Given the description of an element on the screen output the (x, y) to click on. 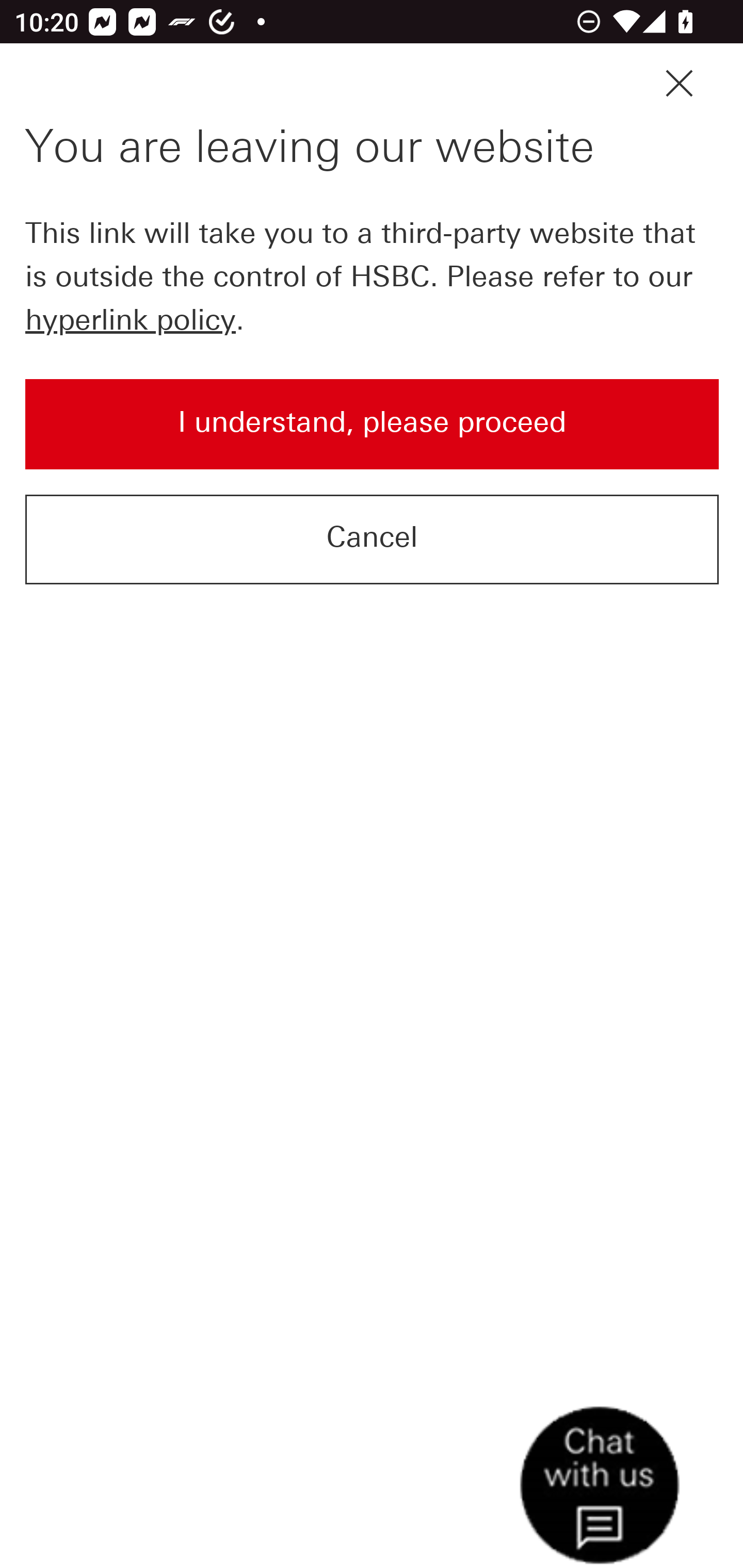
close modal (678, 83)
hyperlink policy (130, 319)
Cancel (372, 538)
